Given the description of an element on the screen output the (x, y) to click on. 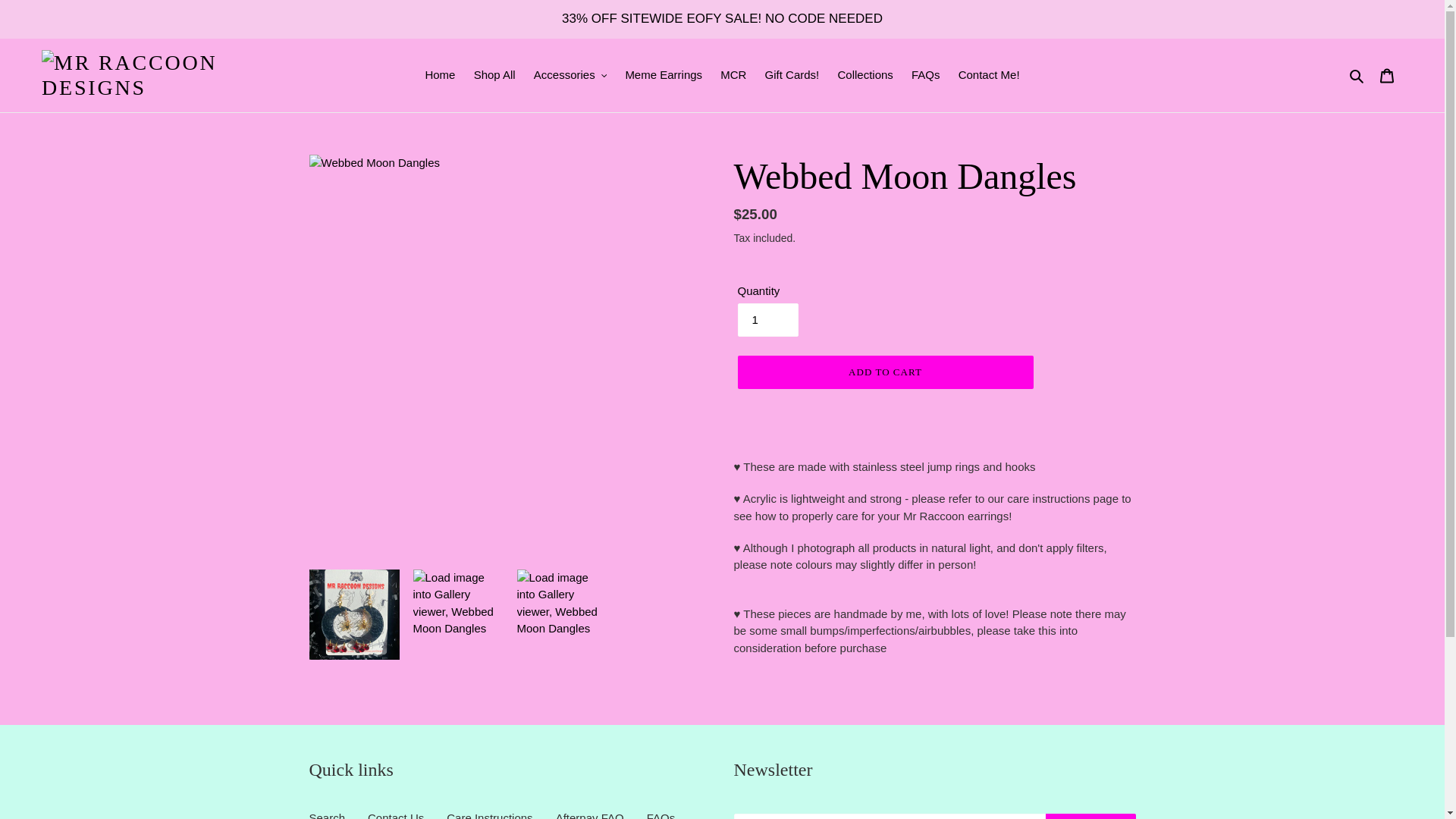
MCR (733, 75)
Home (439, 75)
Shop All (493, 75)
Gift Cards! (792, 75)
1 (766, 319)
Accessories (569, 75)
Cart (1387, 74)
Collections (864, 75)
Contact Me! (988, 75)
Meme Earrings (663, 75)
Search (1357, 75)
FAQs (925, 75)
